Given the description of an element on the screen output the (x, y) to click on. 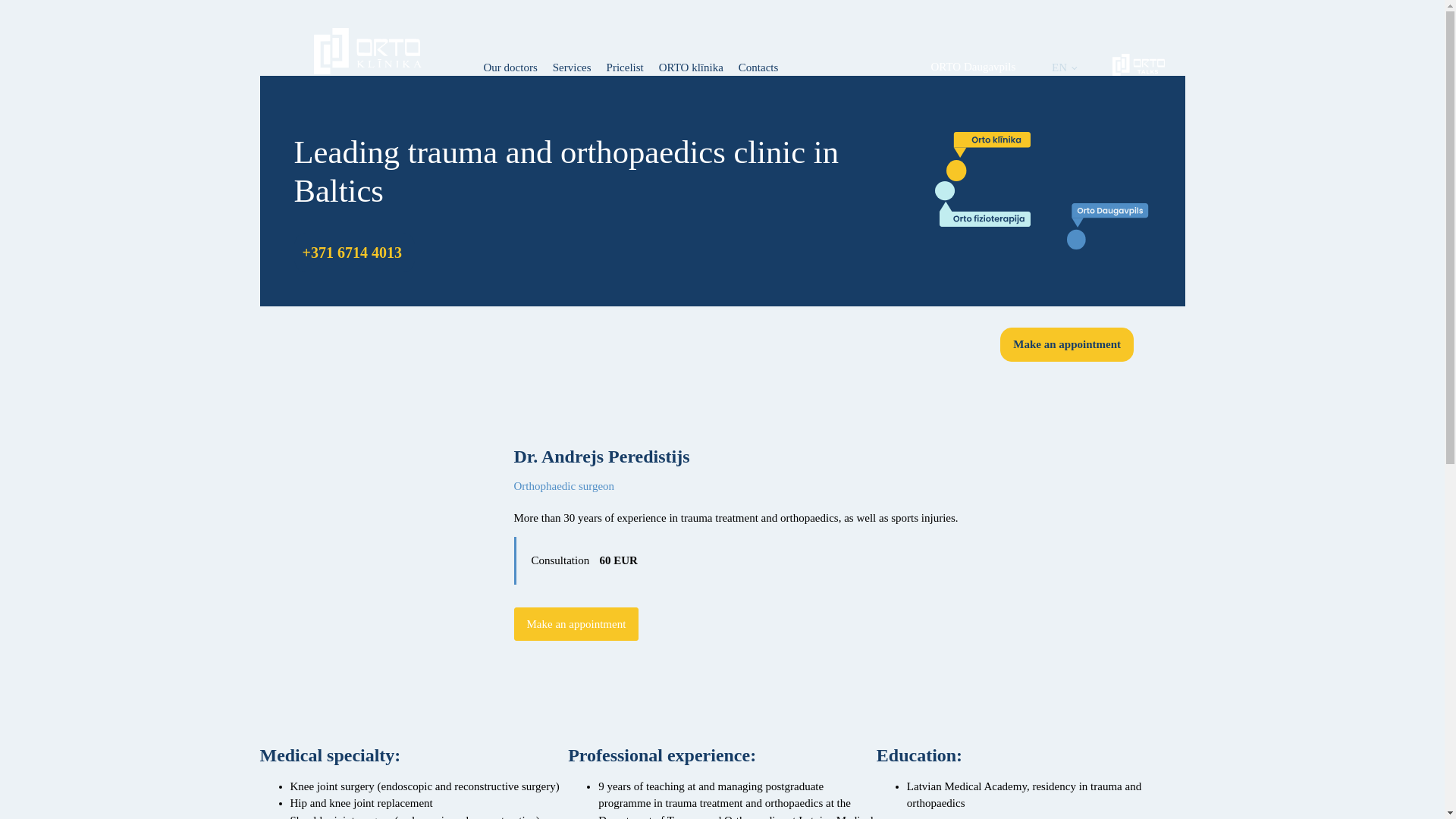
EN (1063, 60)
Make an appointment (576, 624)
Contacts (758, 60)
Make an appointment (1067, 344)
Services (571, 60)
Pricelist (624, 60)
ORTO Daugavpils (973, 66)
Our doctors (510, 60)
